Given the description of an element on the screen output the (x, y) to click on. 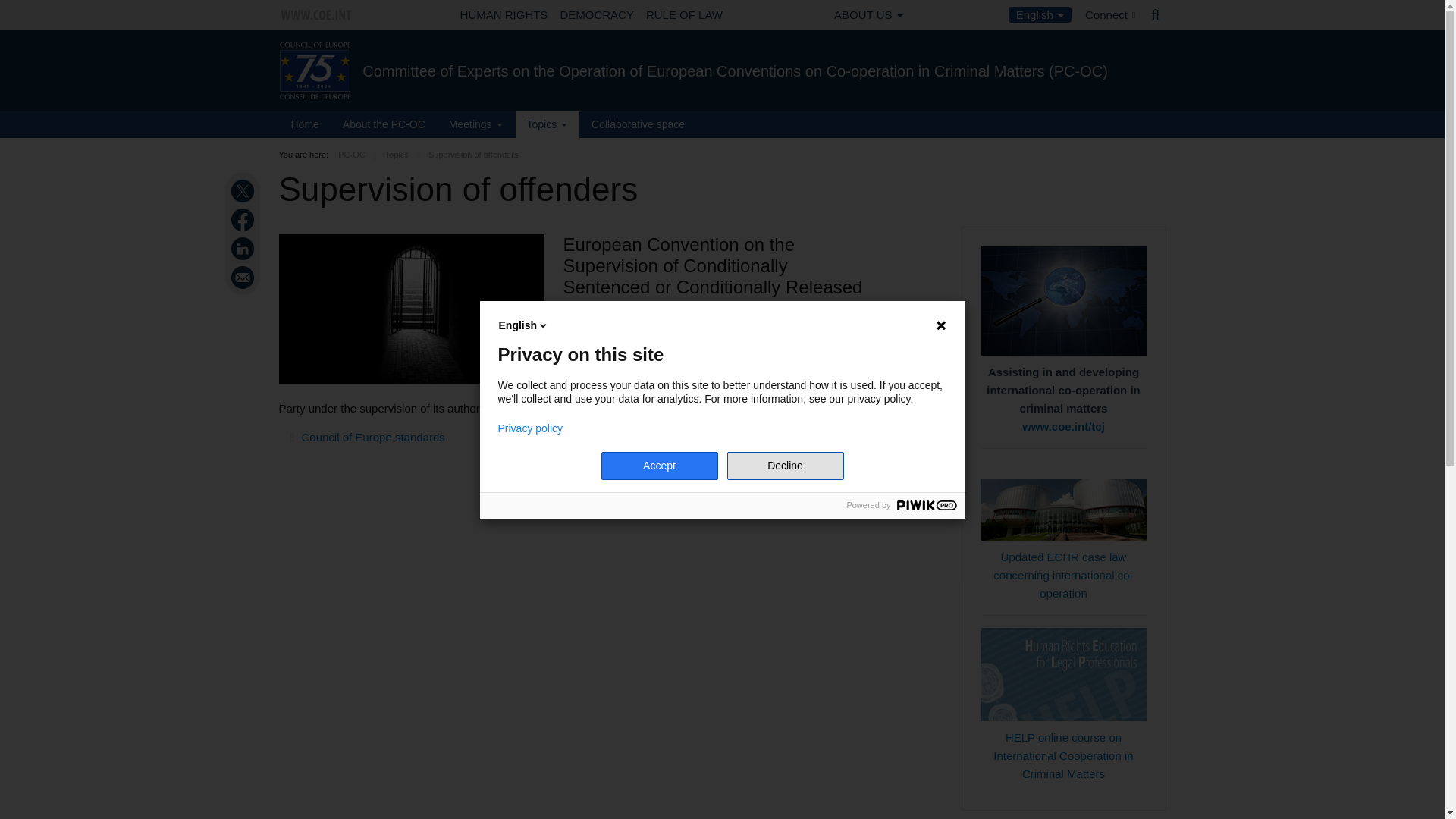
ABOUT US (868, 15)
English (1040, 14)
RULE OF LAW (684, 15)
HUMAN RIGHTS (504, 15)
Share on Facebook (244, 219)
DEMOCRACY (596, 15)
Share on Linkedin (244, 248)
Connect (1109, 15)
Send this page (244, 277)
WWW.COE.INT (317, 15)
